Given the description of an element on the screen output the (x, y) to click on. 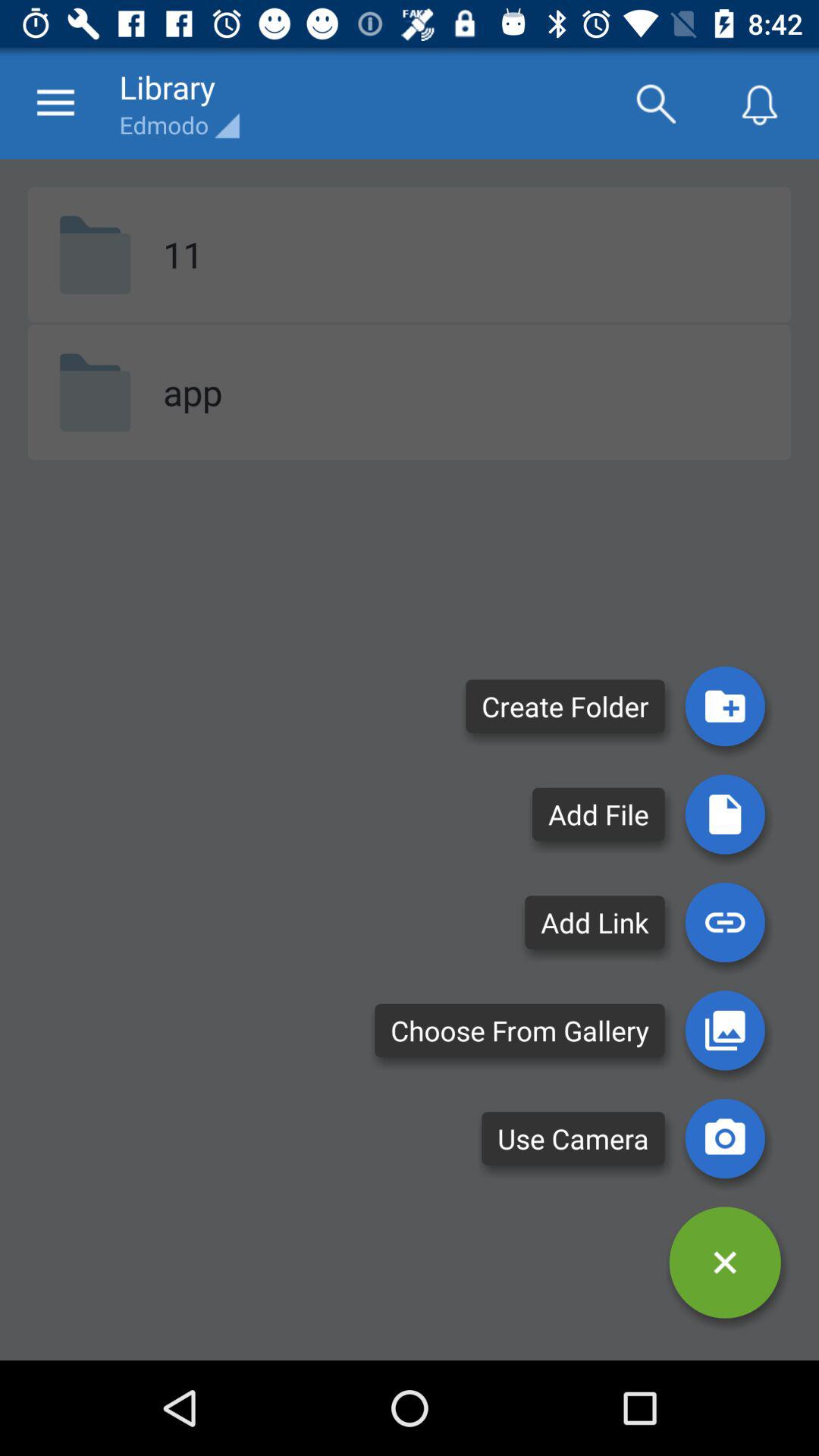
close menu (725, 1262)
